Given the description of an element on the screen output the (x, y) to click on. 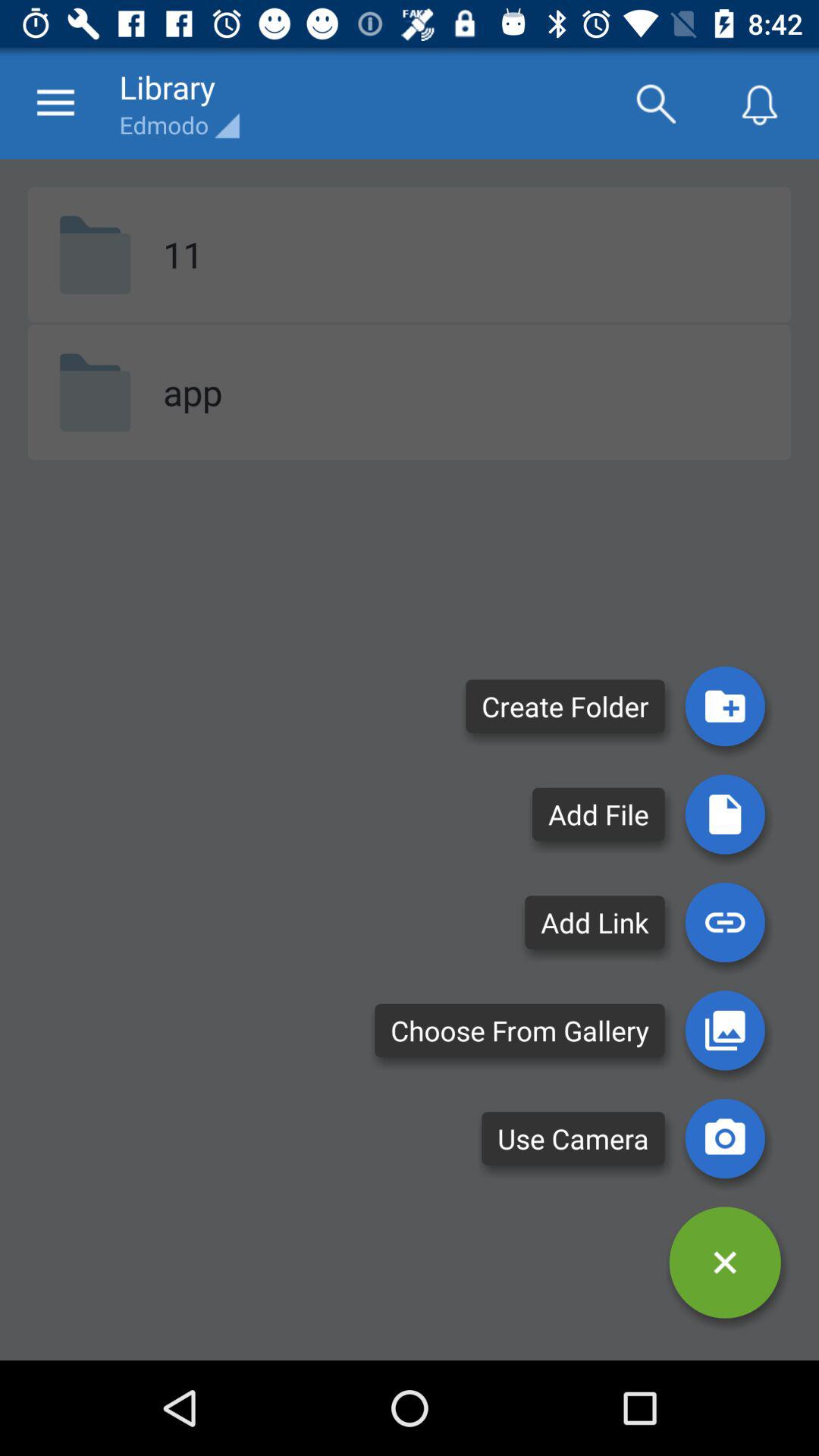
close menu (725, 1262)
